Given the description of an element on the screen output the (x, y) to click on. 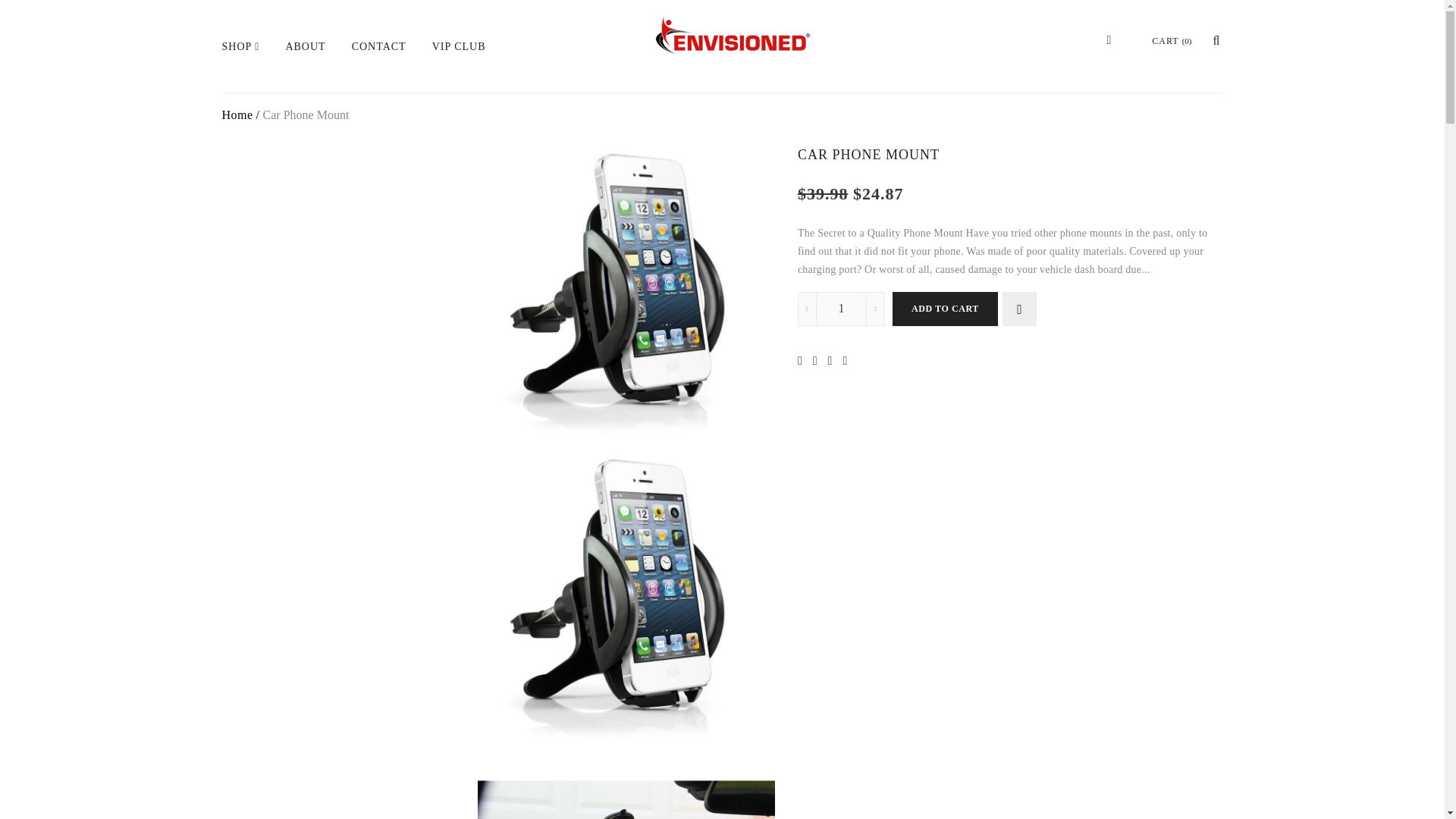
Home (236, 114)
Google plus (834, 359)
Twitter (803, 359)
Add to Cart (944, 308)
Facebook (818, 359)
ADD TO CART (944, 308)
1 (841, 308)
ABOUT (304, 64)
Contact (378, 64)
VIP Club (458, 64)
Back to the frontpage (236, 114)
vimeo (848, 359)
CONTACT (378, 64)
VIP CLUB (458, 64)
Add to wishlist (1019, 308)
